Given the description of an element on the screen output the (x, y) to click on. 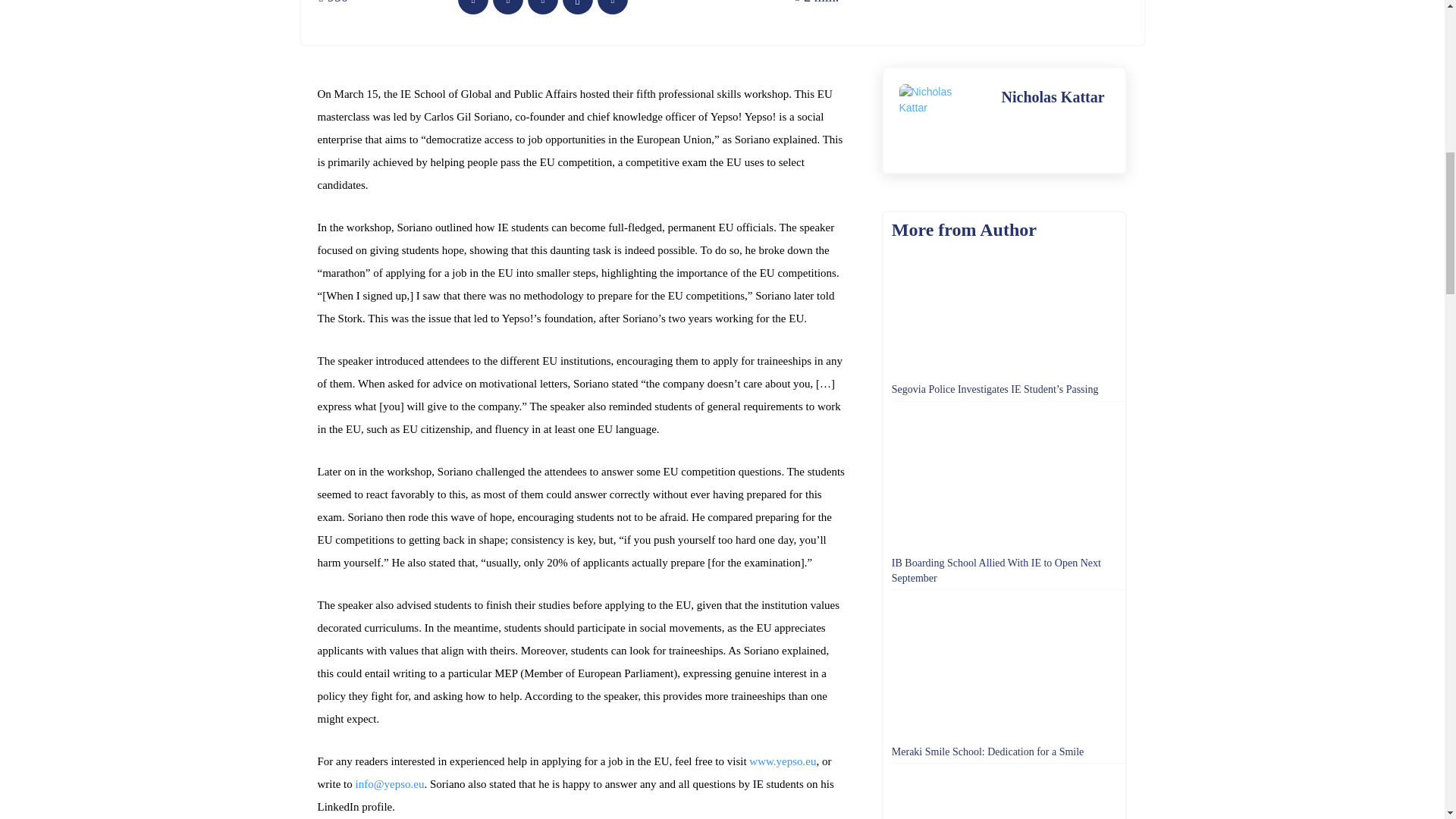
Twitter (507, 7)
Facebook (472, 7)
Linkedin (611, 7)
Pinterest (542, 7)
WhatsApp (577, 7)
